Given the description of an element on the screen output the (x, y) to click on. 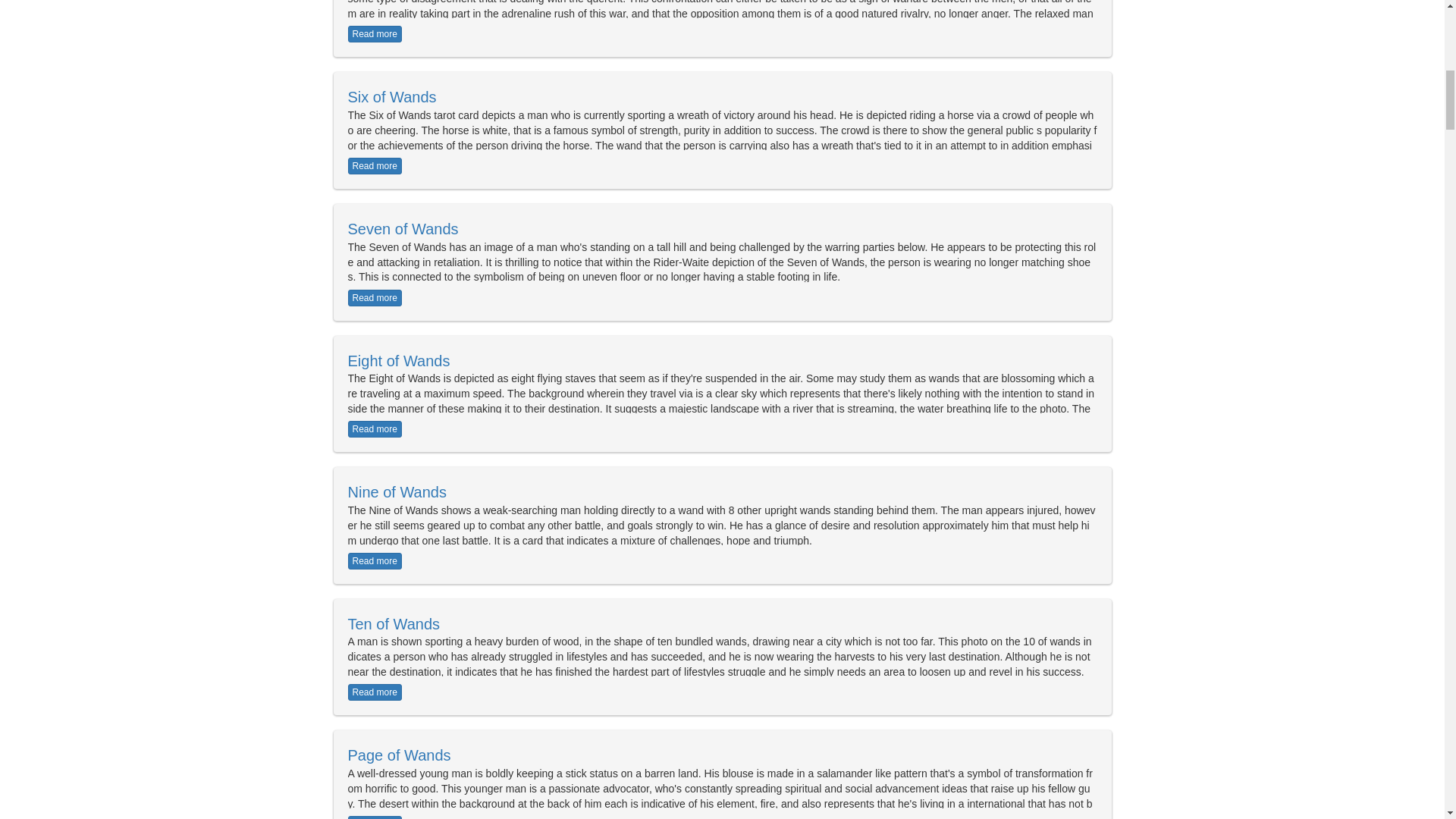
Seven of Wands taro card meaning (374, 297)
Five of Wands taro card meaning (374, 33)
Eight of Wands meanings (398, 360)
Seven of Wands meanings (402, 228)
Six of Wands meanings (391, 96)
Six of Wands taro card meaning (374, 166)
